Given the description of an element on the screen output the (x, y) to click on. 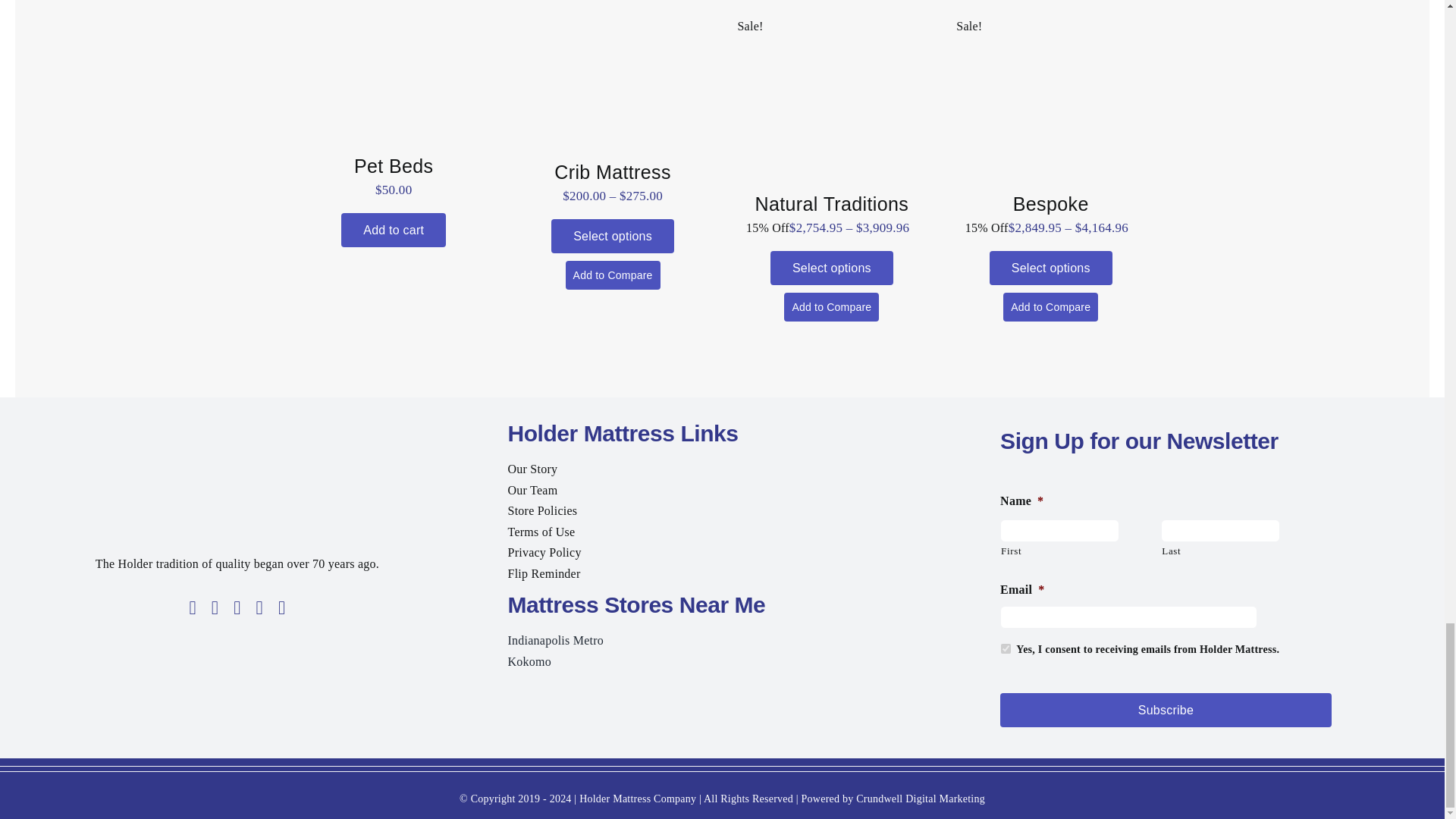
1 (1005, 648)
Subscribe (1166, 709)
